Given the description of an element on the screen output the (x, y) to click on. 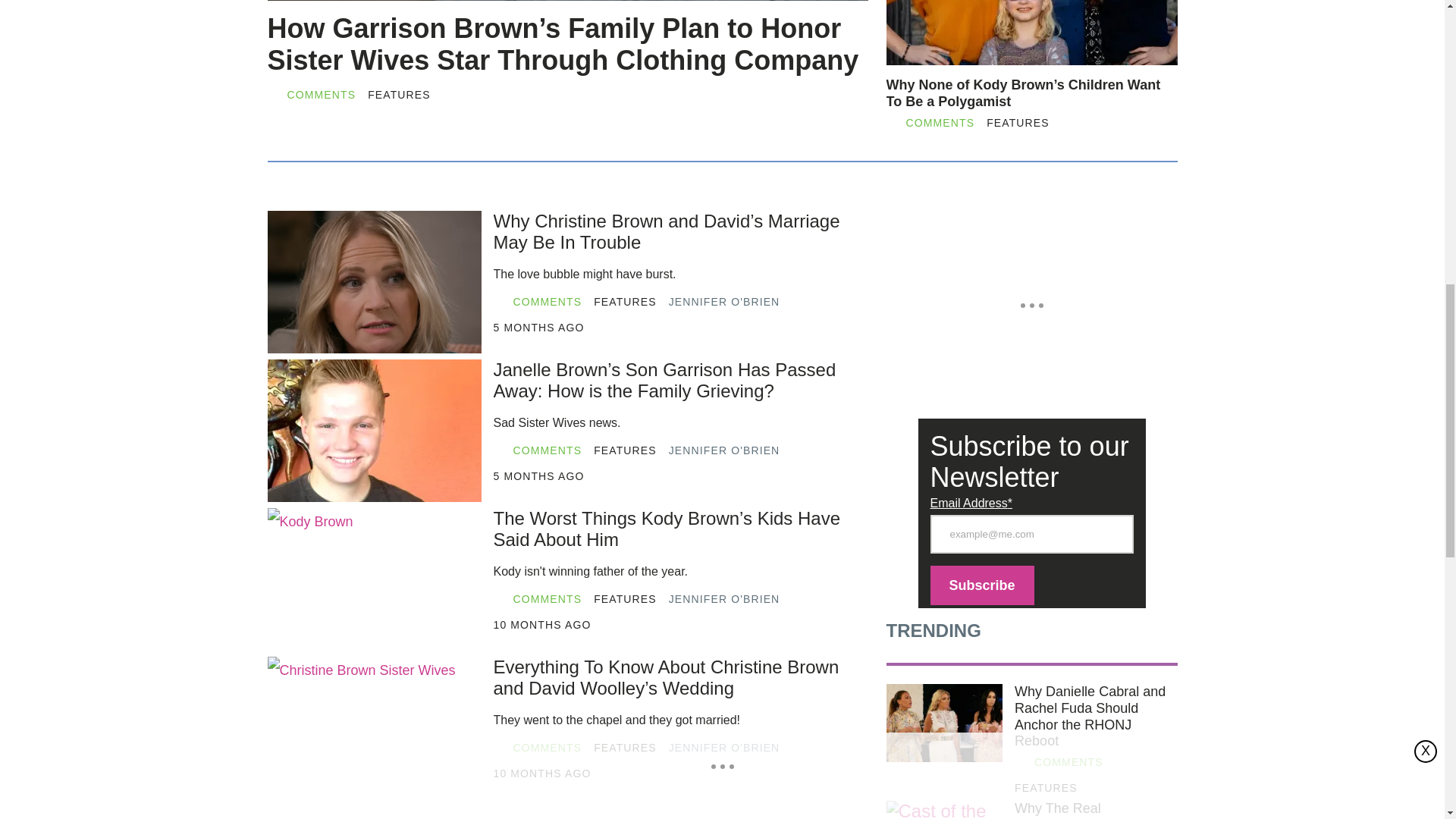
FEATURES (625, 599)
JENNIFER O'BRIEN (724, 301)
JENNIFER O'BRIEN (724, 450)
FEATURES (625, 301)
JENNIFER O'BRIEN (724, 598)
FEATURES (399, 94)
FEATURES (625, 450)
FEATURES (1018, 123)
